Given the description of an element on the screen output the (x, y) to click on. 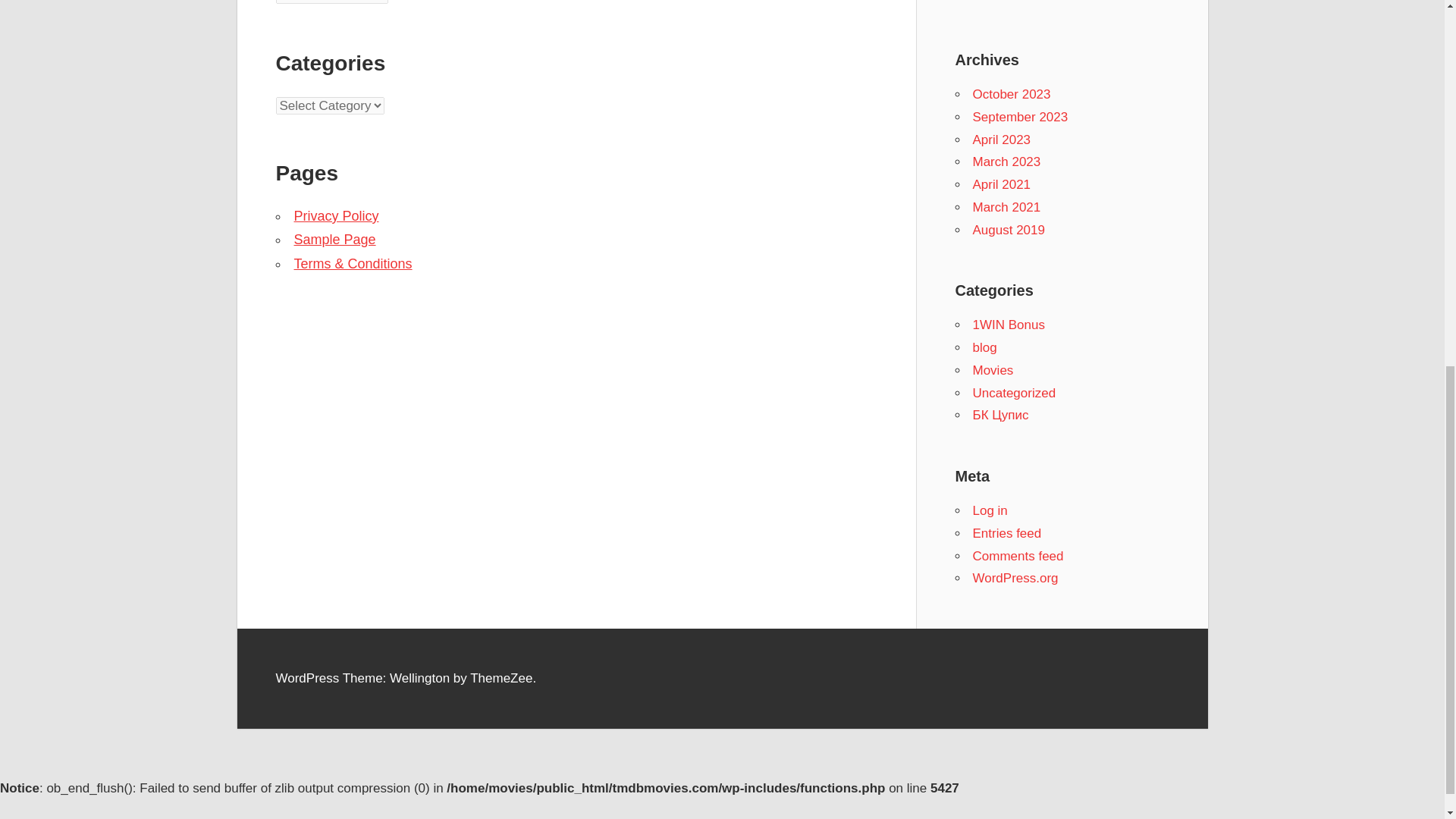
Sample Page (334, 239)
Privacy Policy (336, 215)
April 2021 (1001, 184)
Movies (992, 370)
April 2023 (1001, 139)
March 2023 (1006, 161)
Uncategorized (1013, 392)
March 2021 (1006, 206)
1WIN Bonus (1007, 324)
WordPress.org (1015, 577)
